Given the description of an element on the screen output the (x, y) to click on. 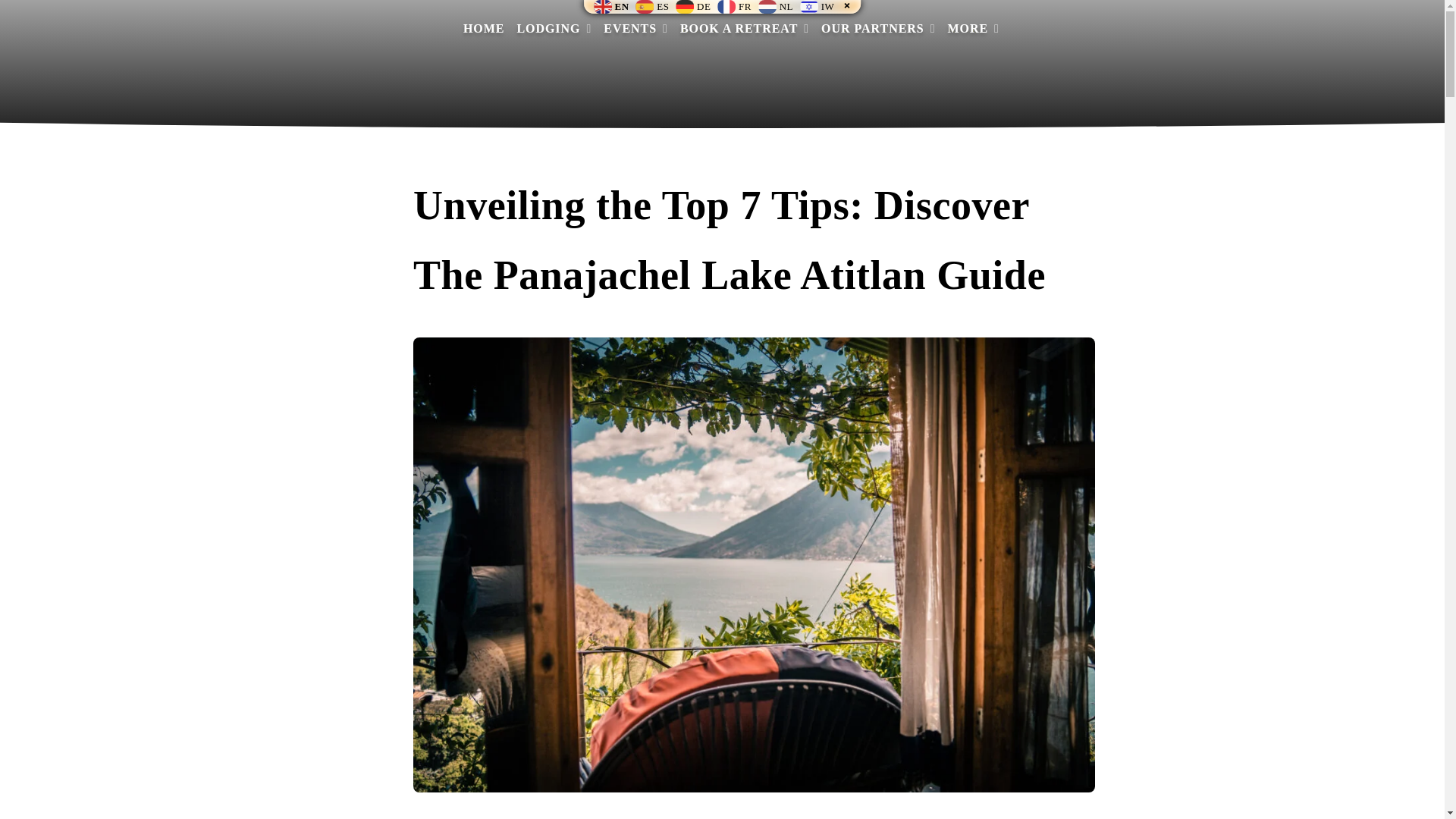
Nederlands (777, 5)
Deutsch (694, 5)
English (613, 5)
MORE (972, 26)
BOOK A RETREAT (744, 26)
OUR PARTNERS (877, 26)
LODGING (553, 26)
EVENTS (636, 26)
